Given the description of an element on the screen output the (x, y) to click on. 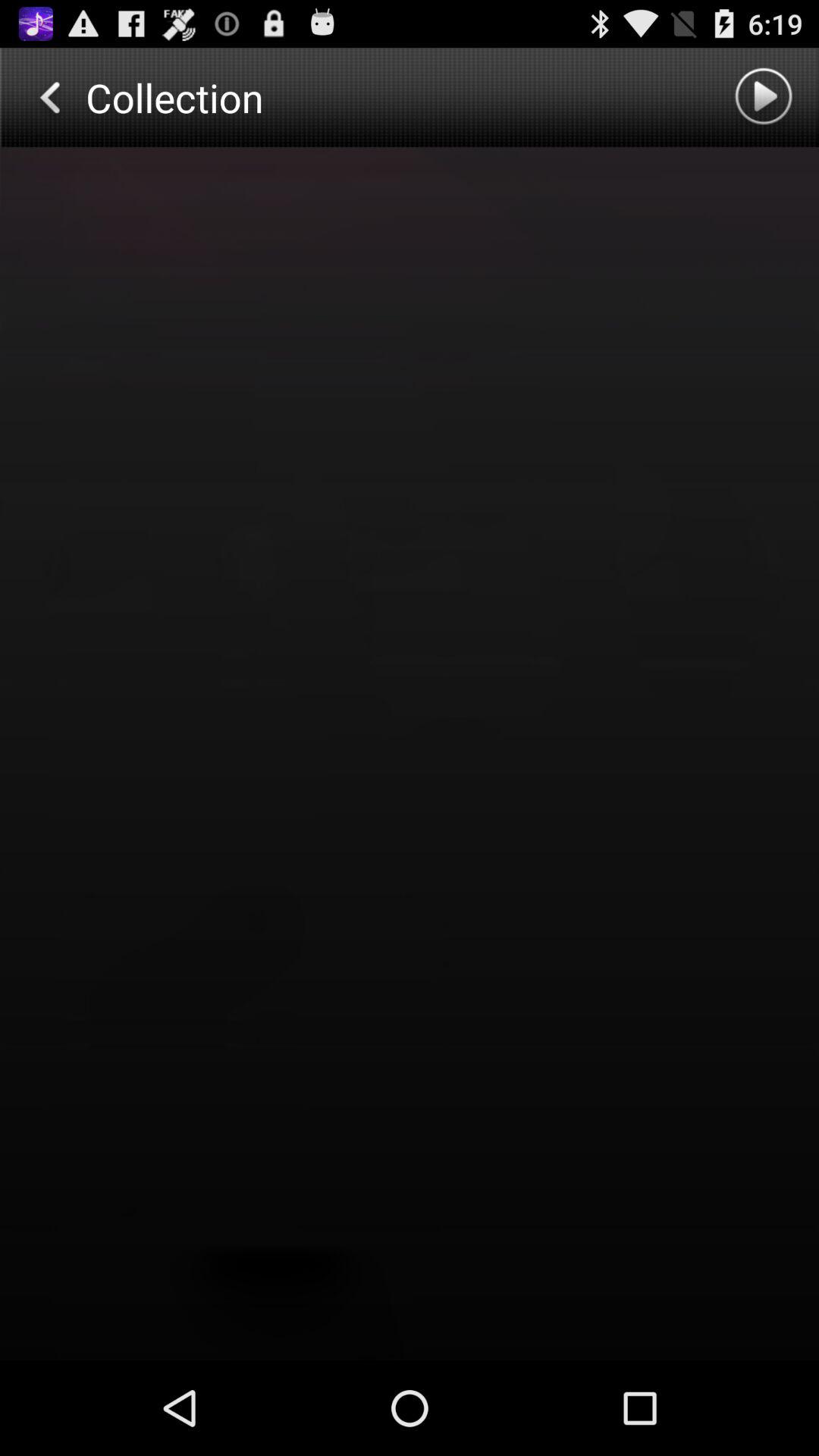
select page (409, 753)
